Given the description of an element on the screen output the (x, y) to click on. 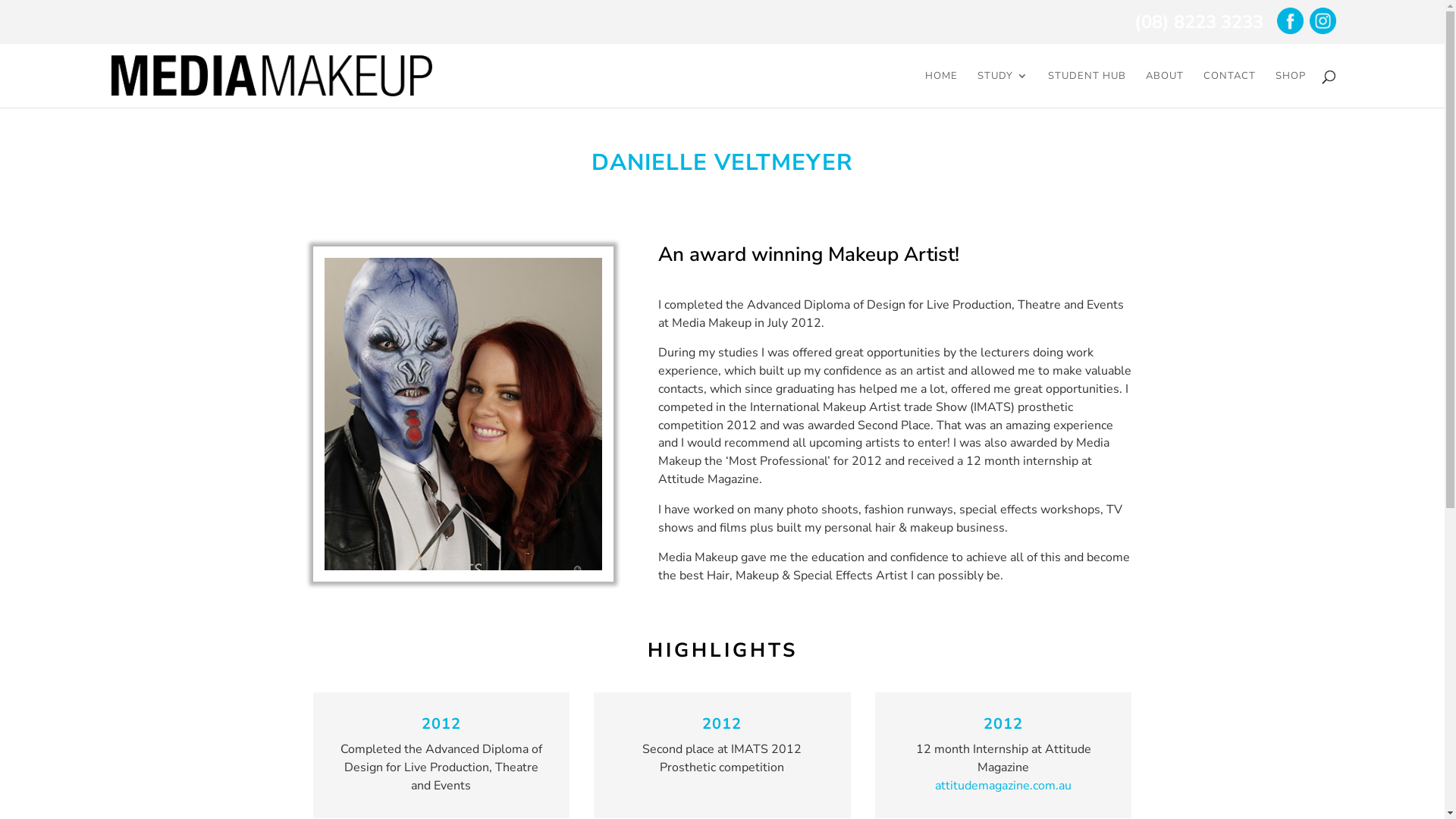
HOME Element type: text (941, 88)
STUDENT HUB Element type: text (1087, 88)
SHOP Element type: text (1290, 88)
attitudemagazine.com.au Element type: text (1003, 785)
CONTACT Element type: text (1229, 88)
(08) 8223 3233 Element type: text (1198, 21)
ABOUT Element type: text (1164, 88)
STUDY Element type: text (1002, 88)
